Given the description of an element on the screen output the (x, y) to click on. 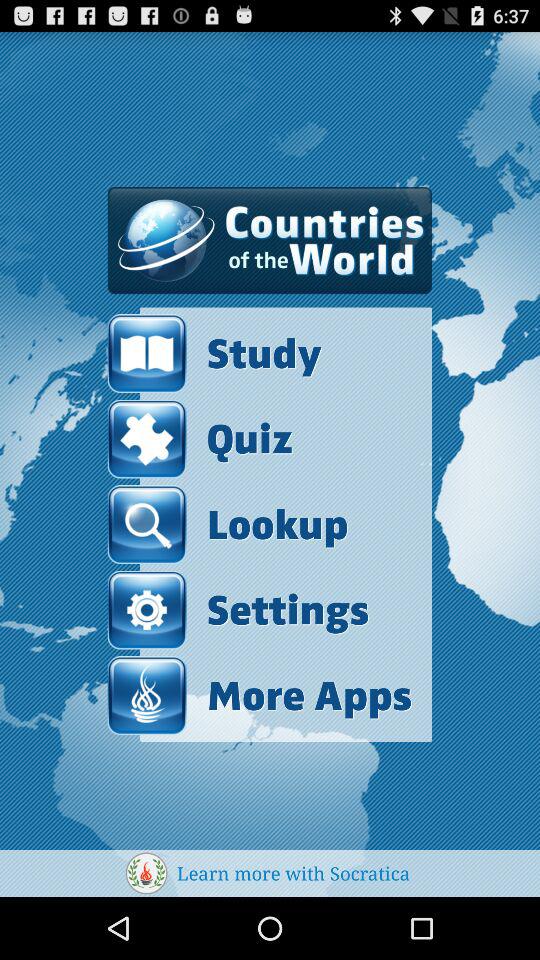
choose the item above the settings item (227, 524)
